Given the description of an element on the screen output the (x, y) to click on. 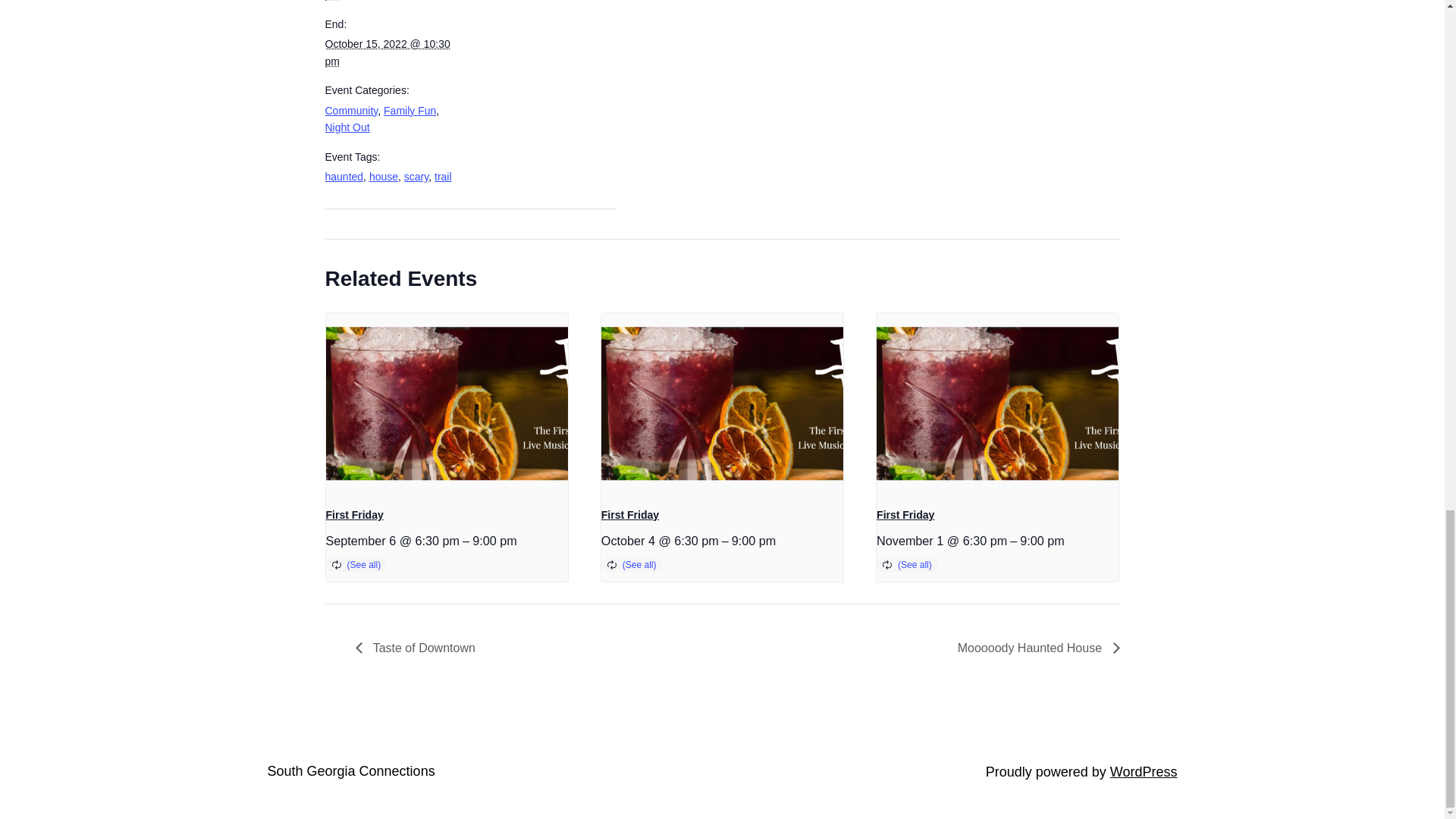
Family Fun (409, 110)
Community (350, 110)
Night Out (346, 127)
haunted (343, 176)
